Given the description of an element on the screen output the (x, y) to click on. 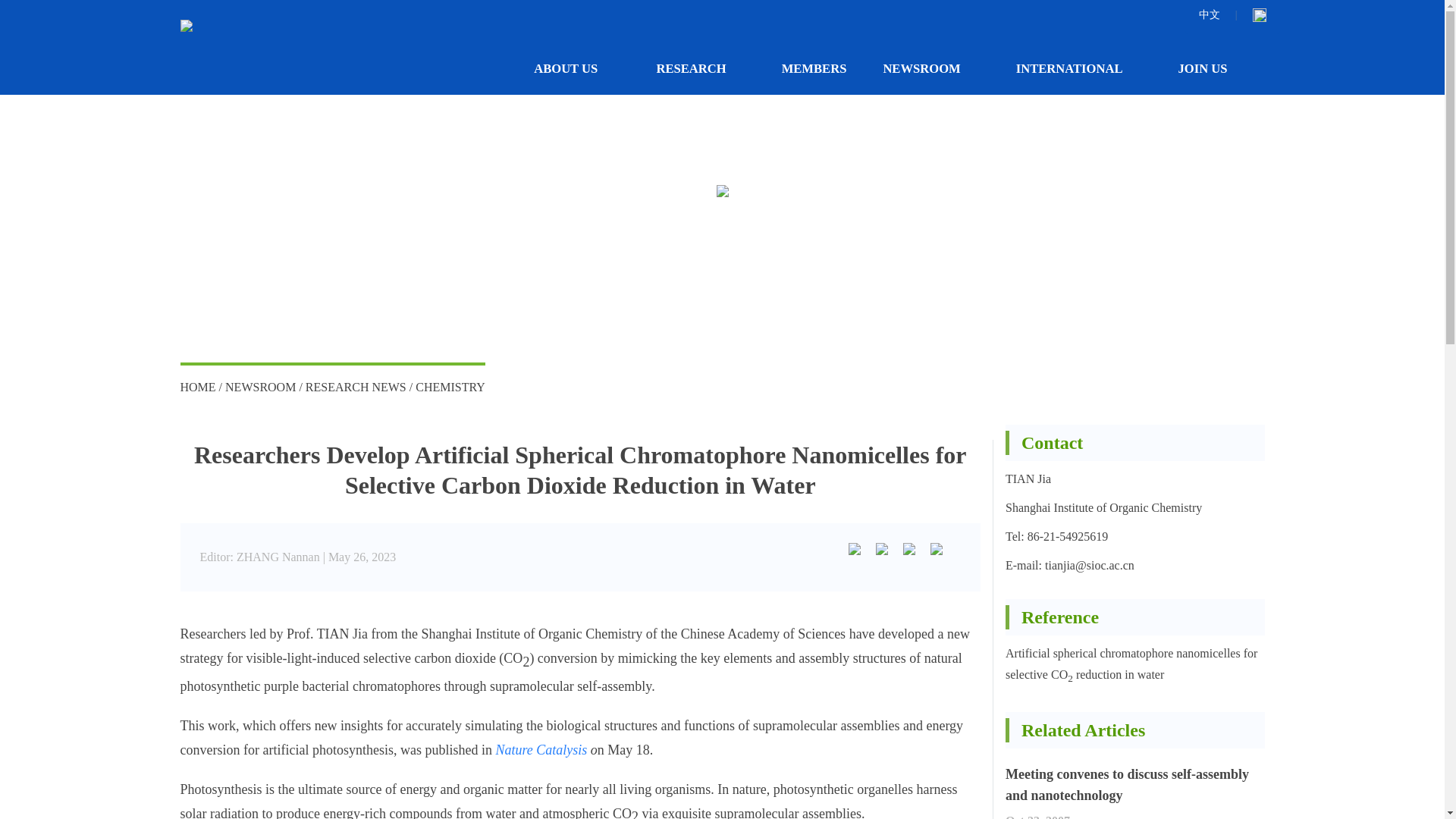
MEMBERS (814, 68)
HOME (197, 386)
Home (197, 386)
Research News (355, 386)
INTERNATIONAL (1078, 68)
NEWSROOM (260, 386)
CHEMISTRY (449, 386)
RESEARCH NEWS (355, 386)
NEWSROOM (930, 68)
RESEARCH (700, 68)
JOIN US (1211, 68)
Newsroom (260, 386)
ABOUT US (577, 68)
Chemistry (449, 386)
